Given the description of an element on the screen output the (x, y) to click on. 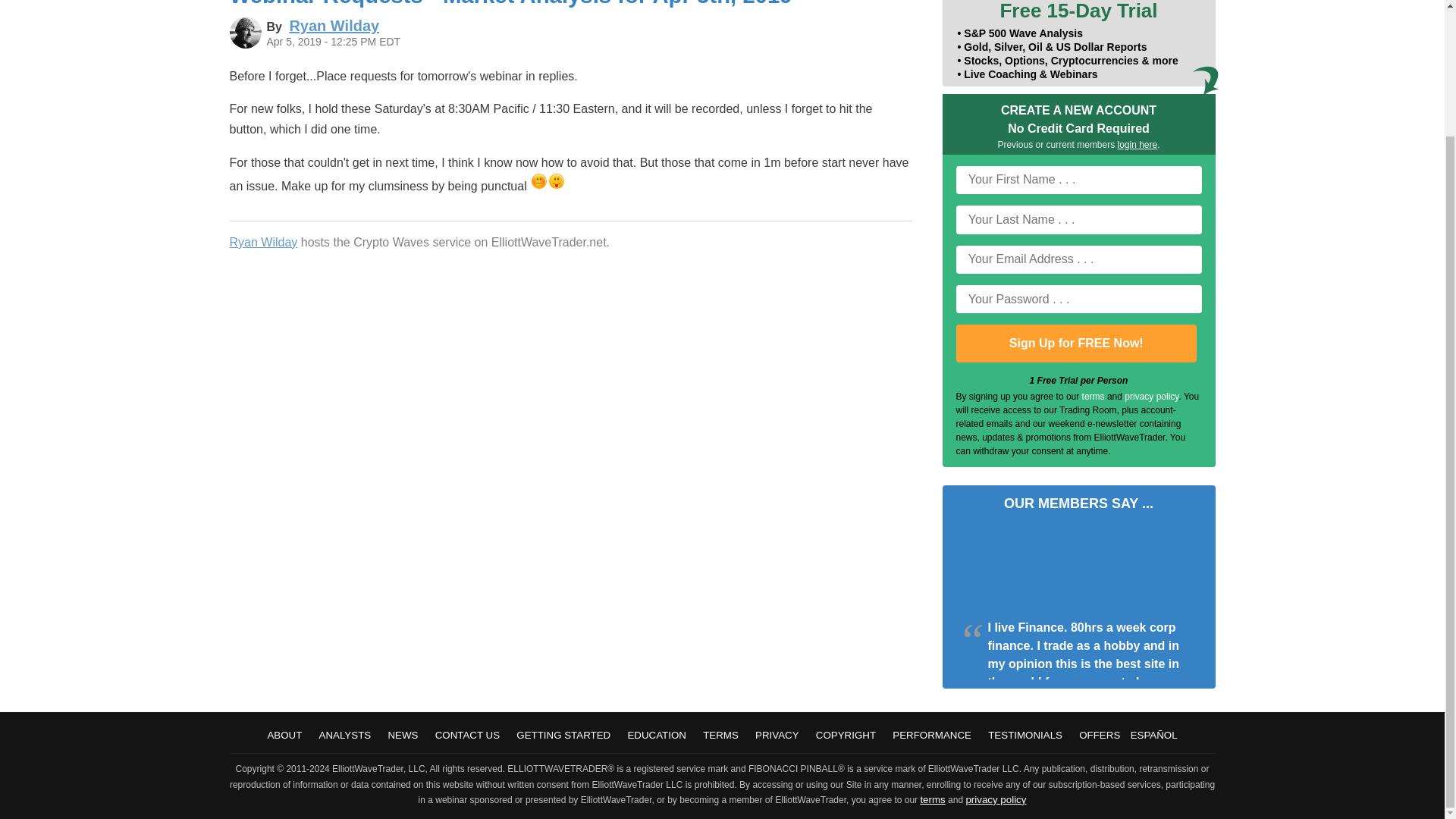
Ryan Wilday (262, 241)
Sign Up for FREE Now! (1075, 343)
TESTIMONIALS (1025, 735)
NEWS (402, 735)
privacy policy (1150, 396)
terms (1093, 396)
COPYRIGHT (845, 735)
Ryan Wilday (333, 25)
Your Password (1078, 298)
Your Email Address (1078, 259)
